Given the description of an element on the screen output the (x, y) to click on. 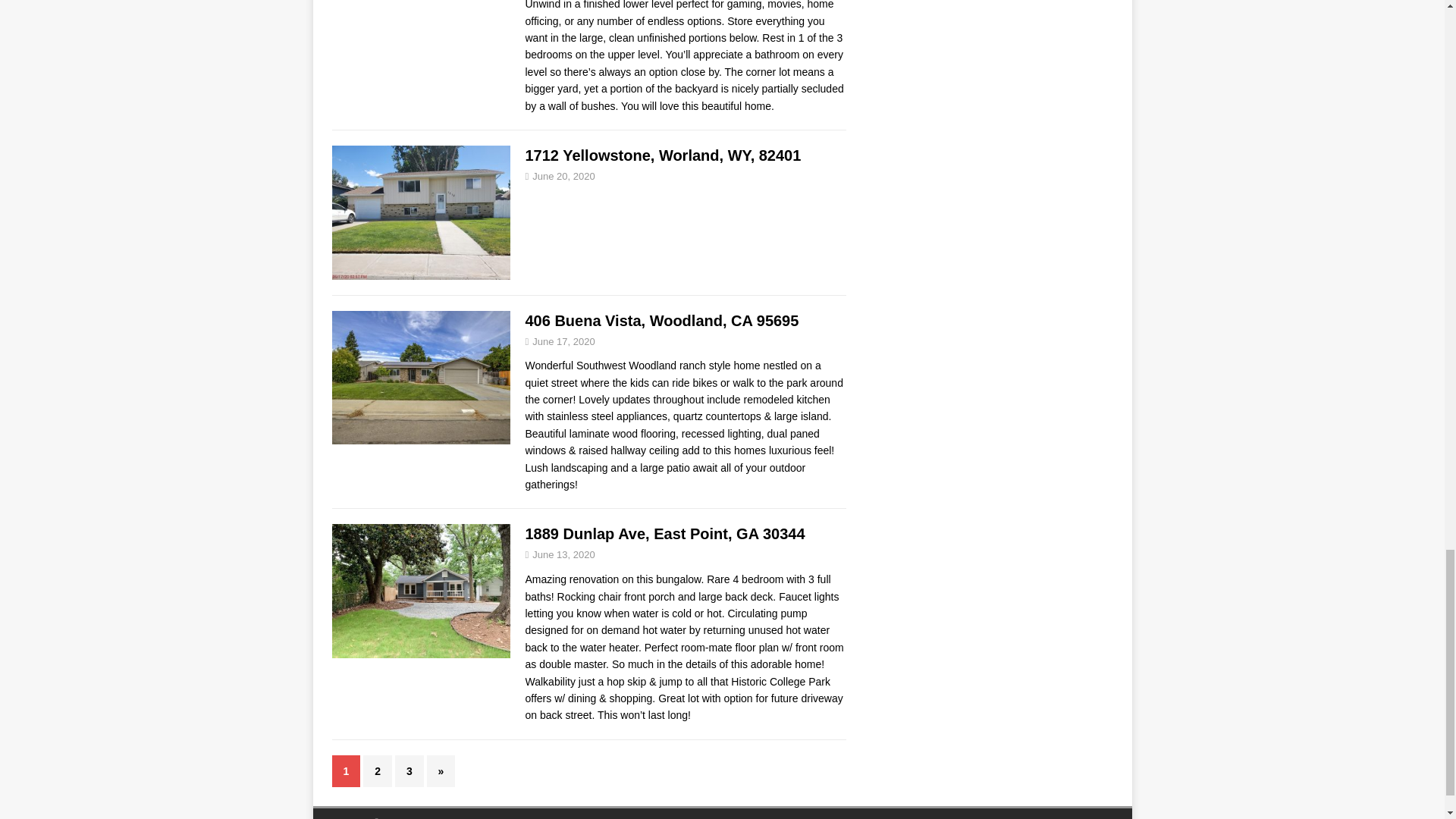
406 Buena Vista, Woodland, CA 95695 (660, 320)
1889 Dunlap Ave, East Point, GA 30344 (664, 533)
2 (376, 771)
1712 Yellowstone, Worland, WY, 82401 (662, 155)
3 (408, 771)
